Given the description of an element on the screen output the (x, y) to click on. 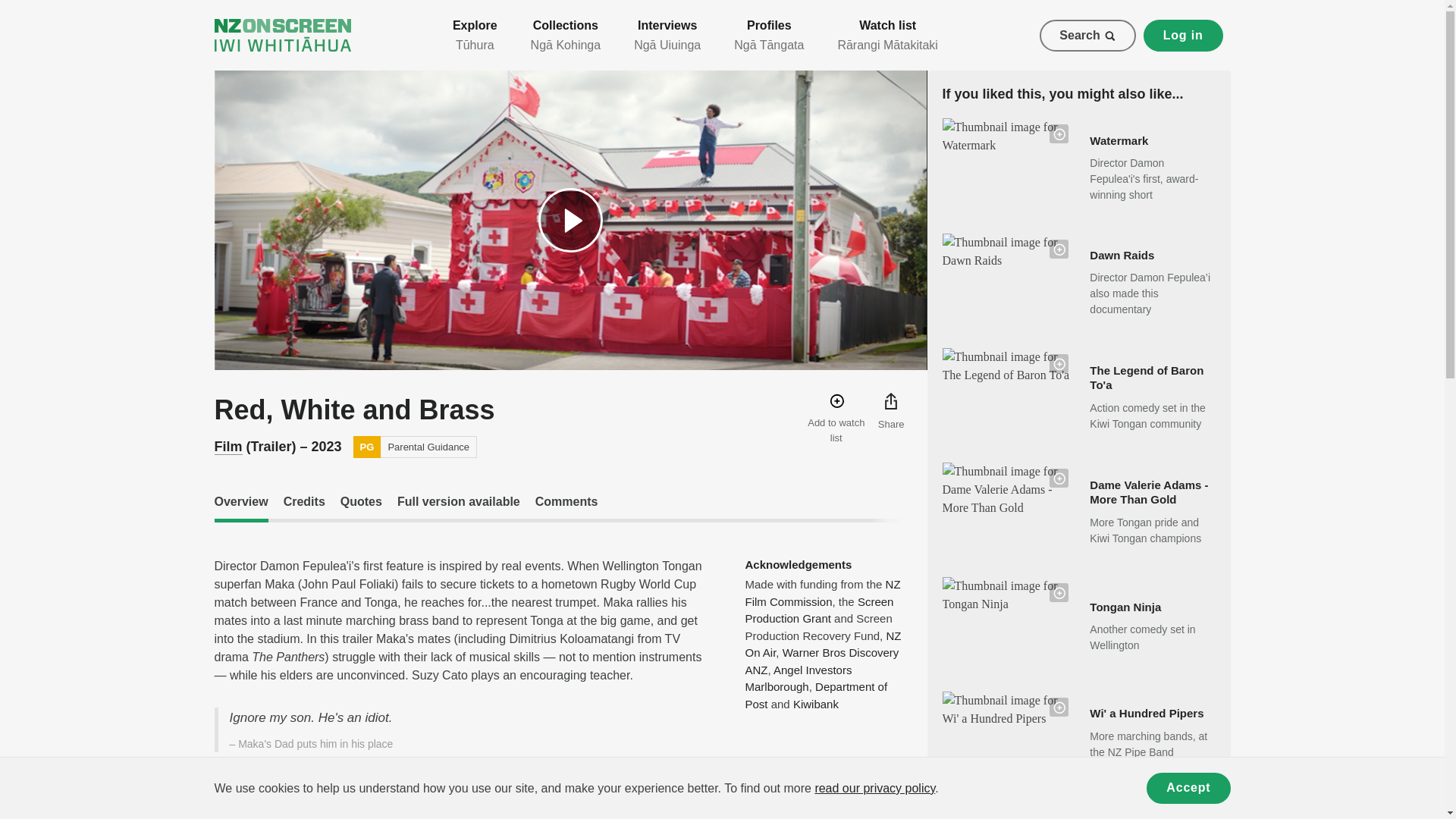
Quotes (360, 507)
Department of Post (815, 695)
Warner Bros Discovery ANZ (821, 661)
Search NZ On Screen (1087, 35)
read our privacy policy (873, 788)
Screen Production Grant (818, 610)
NZ On Air (822, 644)
Add to watch list (836, 419)
Overview (240, 507)
NZ On Screen (282, 34)
Full version available (458, 507)
NZ Film Commission (821, 593)
Search (1087, 35)
Angel Investors Marlborough (797, 678)
